Given the description of an element on the screen output the (x, y) to click on. 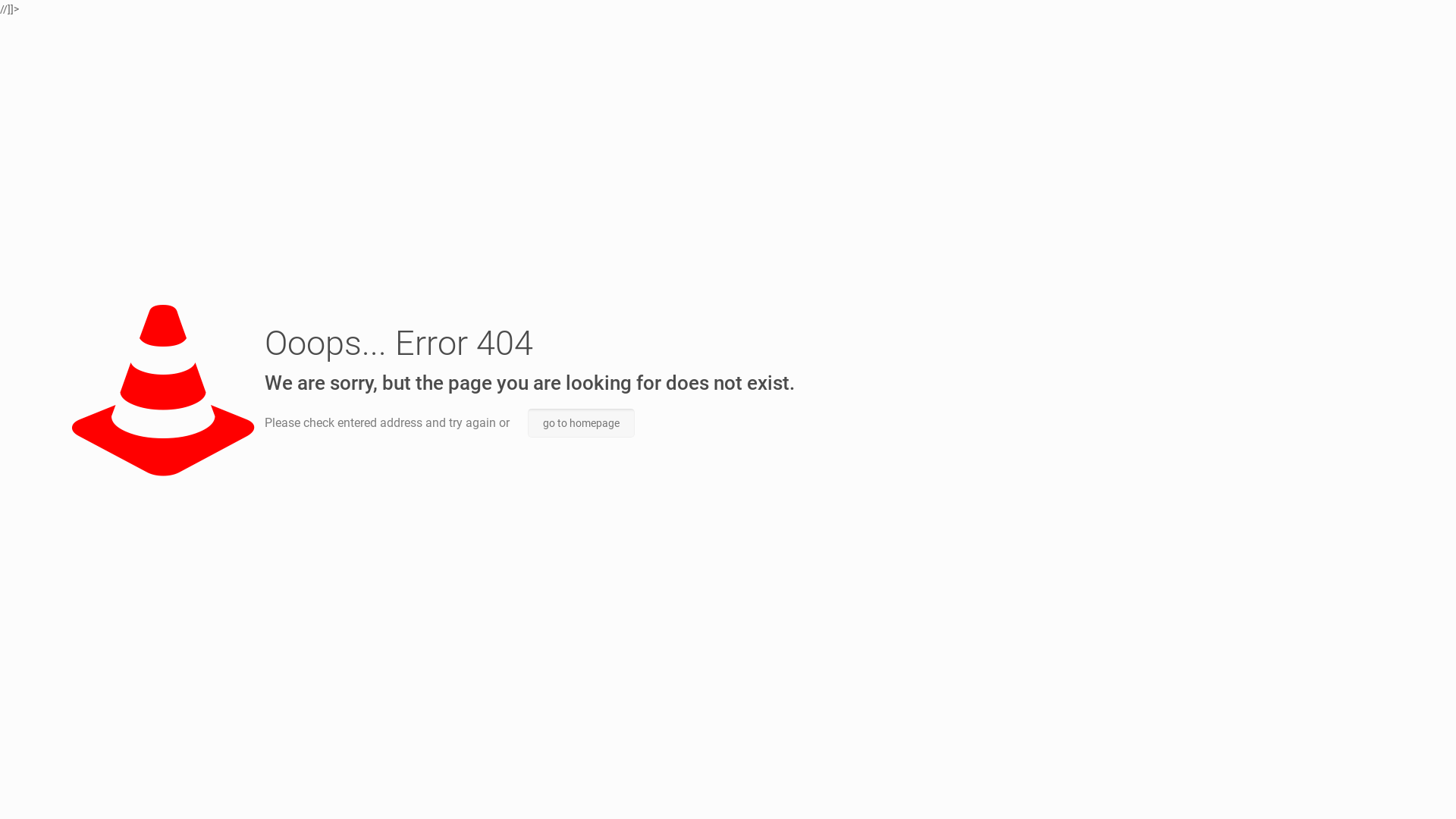
go to homepage Element type: text (580, 422)
